Given the description of an element on the screen output the (x, y) to click on. 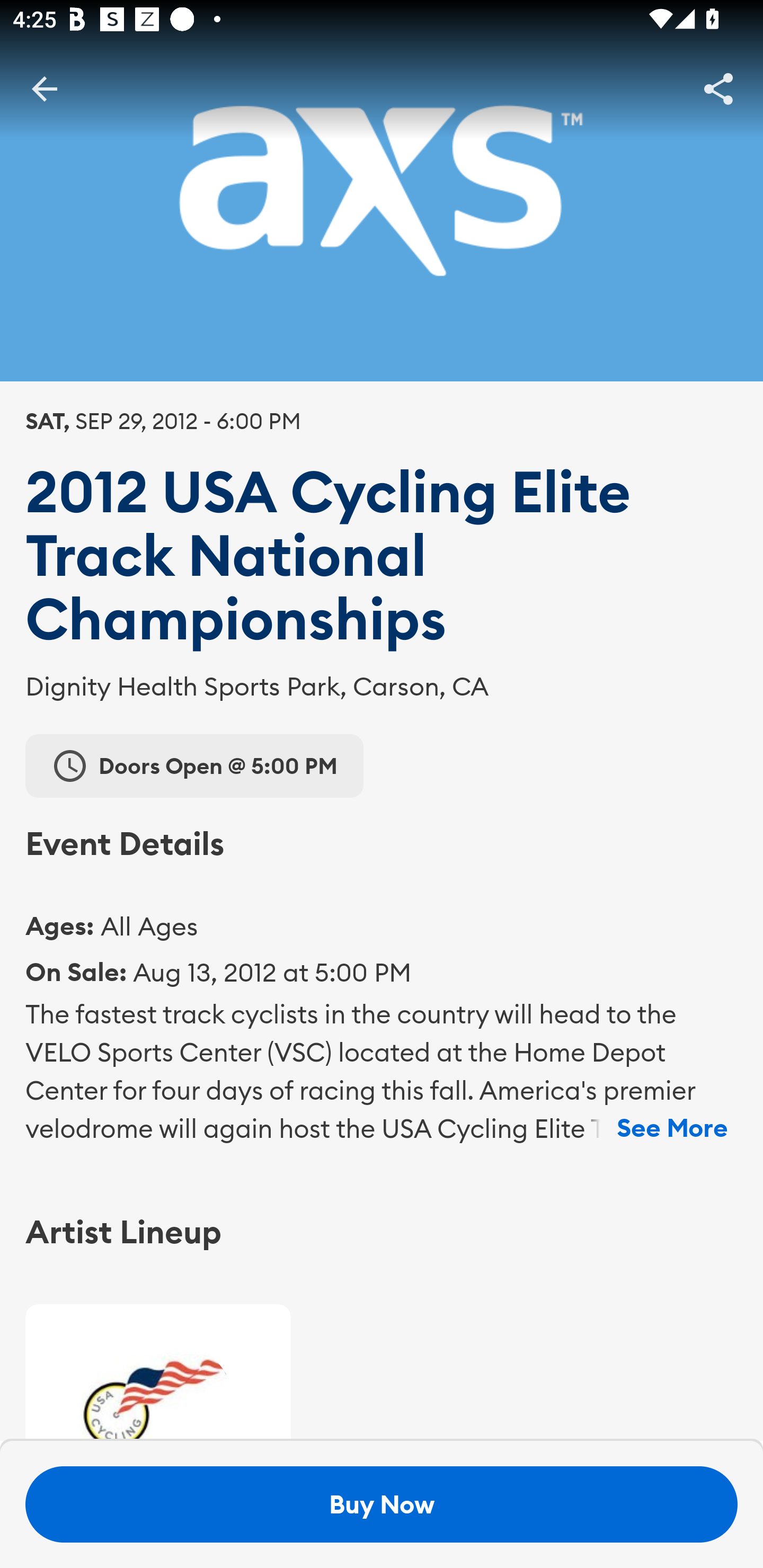
BackButton (44, 88)
Share (718, 88)
See More (671, 1127)
Buy Now (381, 1504)
